Given the description of an element on the screen output the (x, y) to click on. 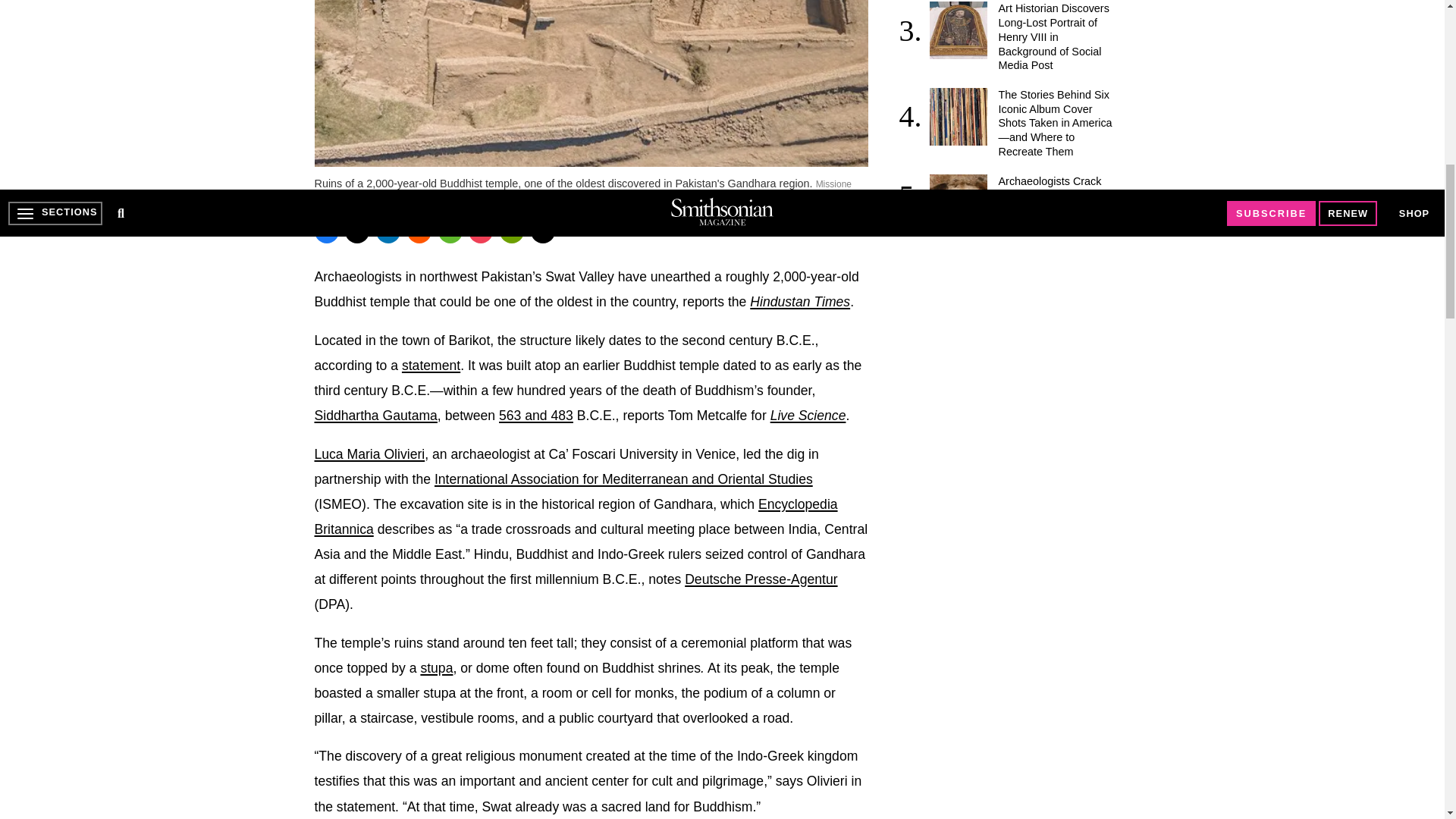
Facebook (325, 231)
LinkedIn (387, 231)
Email (542, 231)
Print (511, 231)
Pocket (480, 231)
WhatsApp (450, 231)
Reddit (418, 231)
Twitter (357, 231)
